Given the description of an element on the screen output the (x, y) to click on. 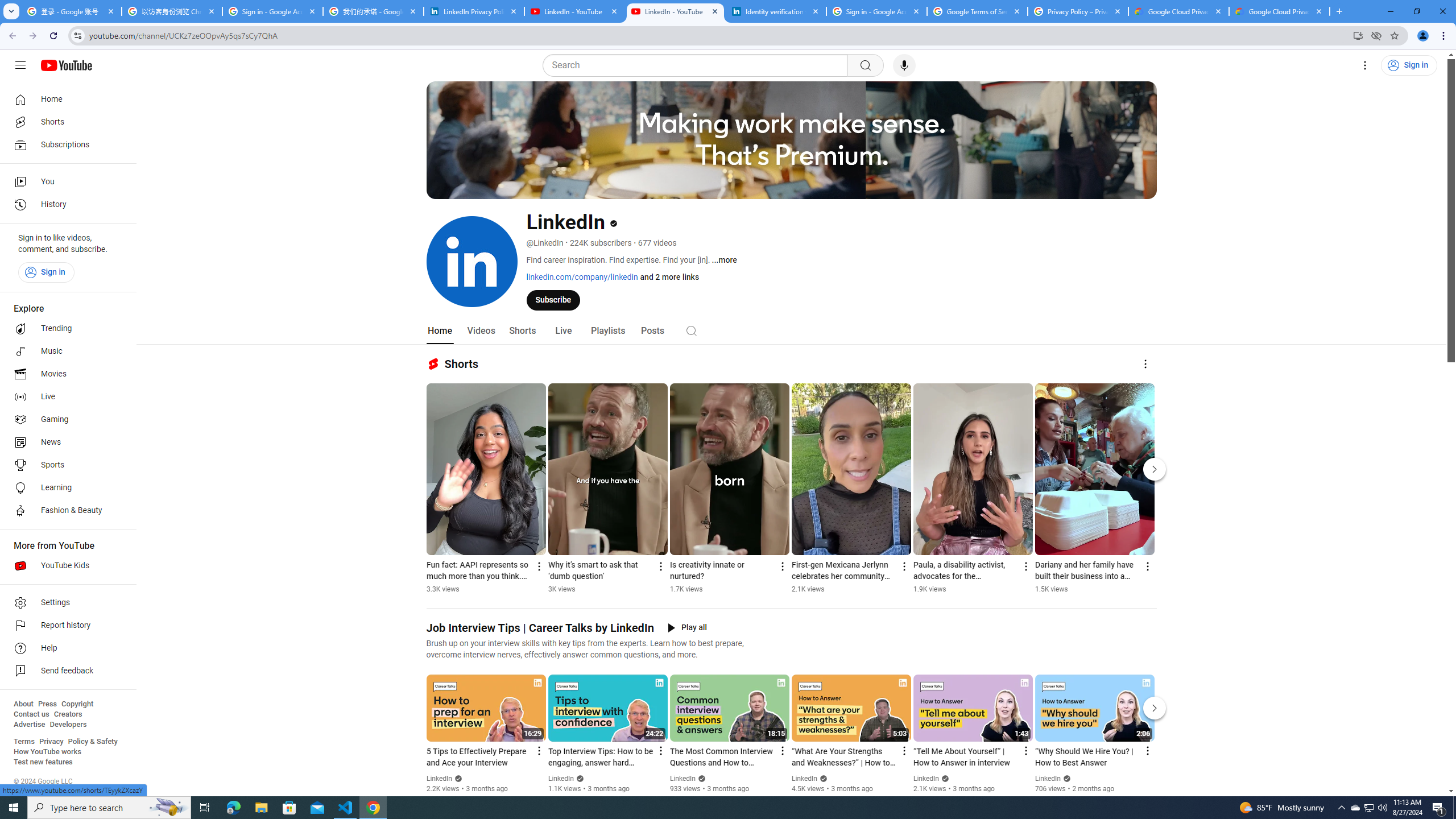
Google Cloud Privacy Notice (1279, 11)
Test new features (42, 761)
LinkedIn (1048, 778)
Play all (687, 627)
Advertise (29, 724)
Creators (67, 714)
Subscriptions (64, 144)
linkedin.com/company/linkedin (581, 276)
Shorts (64, 121)
Trending (64, 328)
